Given the description of an element on the screen output the (x, y) to click on. 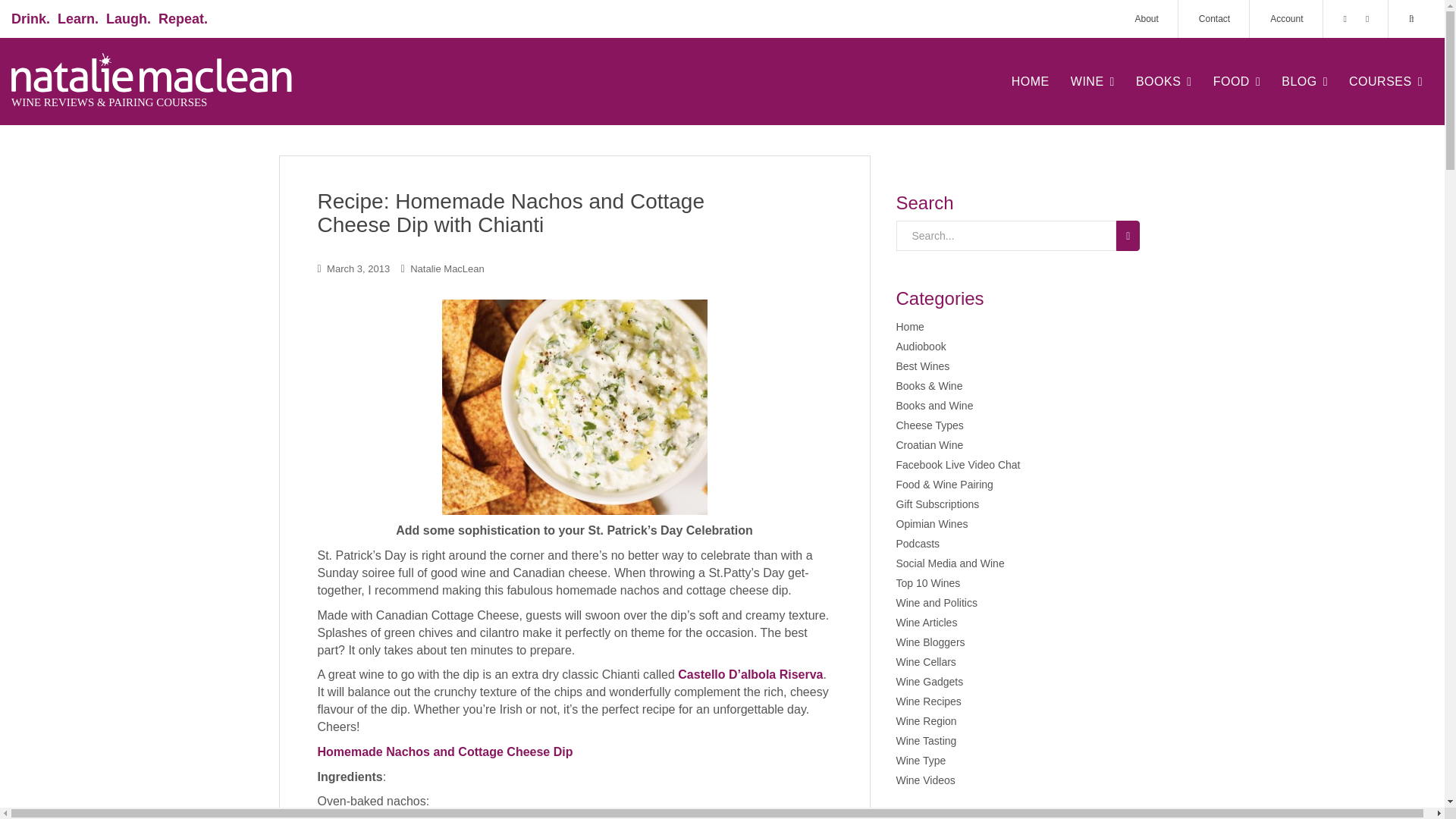
About (1145, 18)
Account (1286, 18)
COURSES (1385, 81)
Contact (1214, 18)
